Given the description of an element on the screen output the (x, y) to click on. 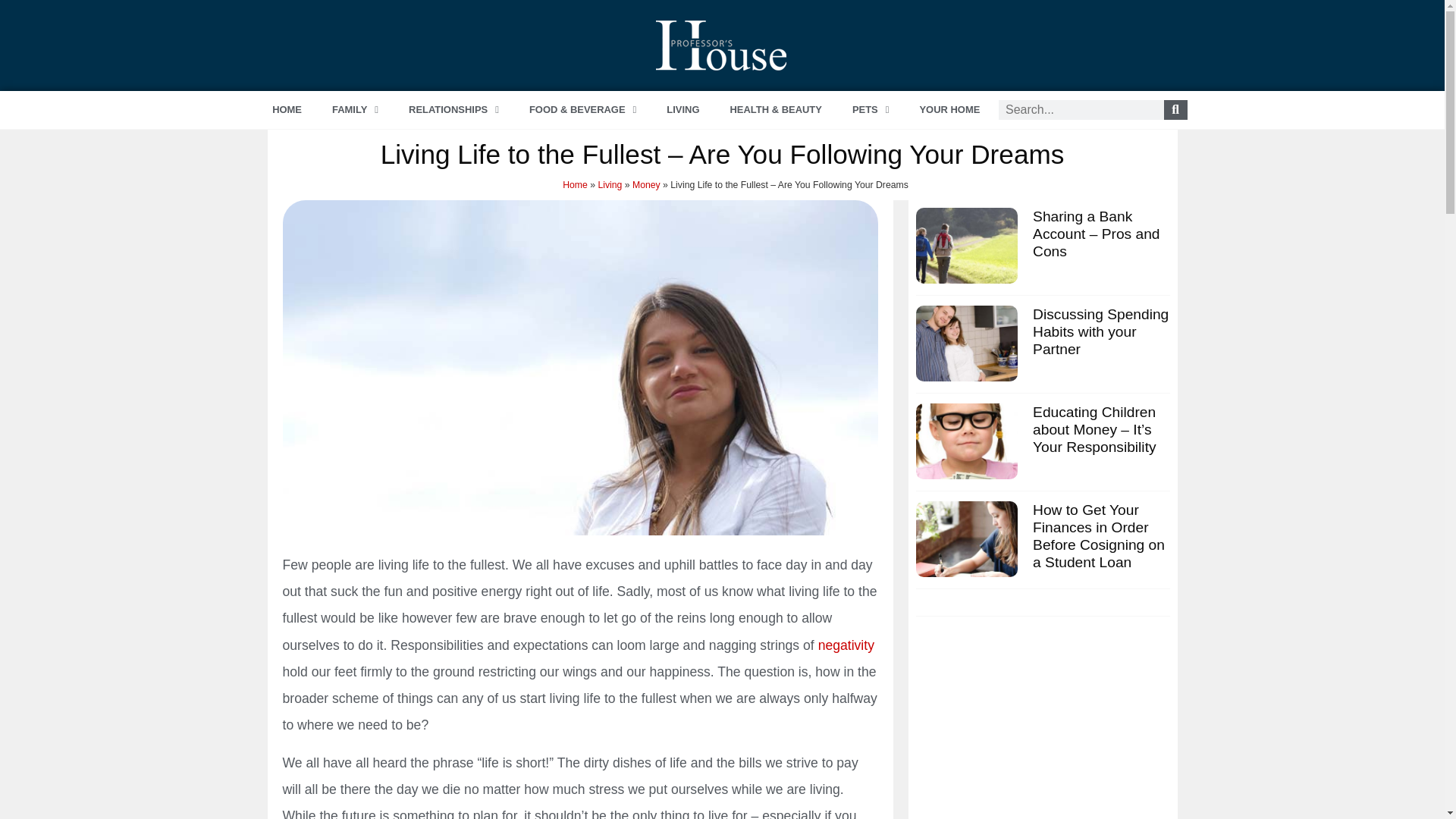
HOME (287, 109)
The Media, Social Media, and Depression (846, 645)
RELATIONSHIPS (453, 109)
Family (355, 109)
PETS (870, 109)
LIVING (682, 109)
YOUR HOME (949, 109)
FAMILY (355, 109)
